Given the description of an element on the screen output the (x, y) to click on. 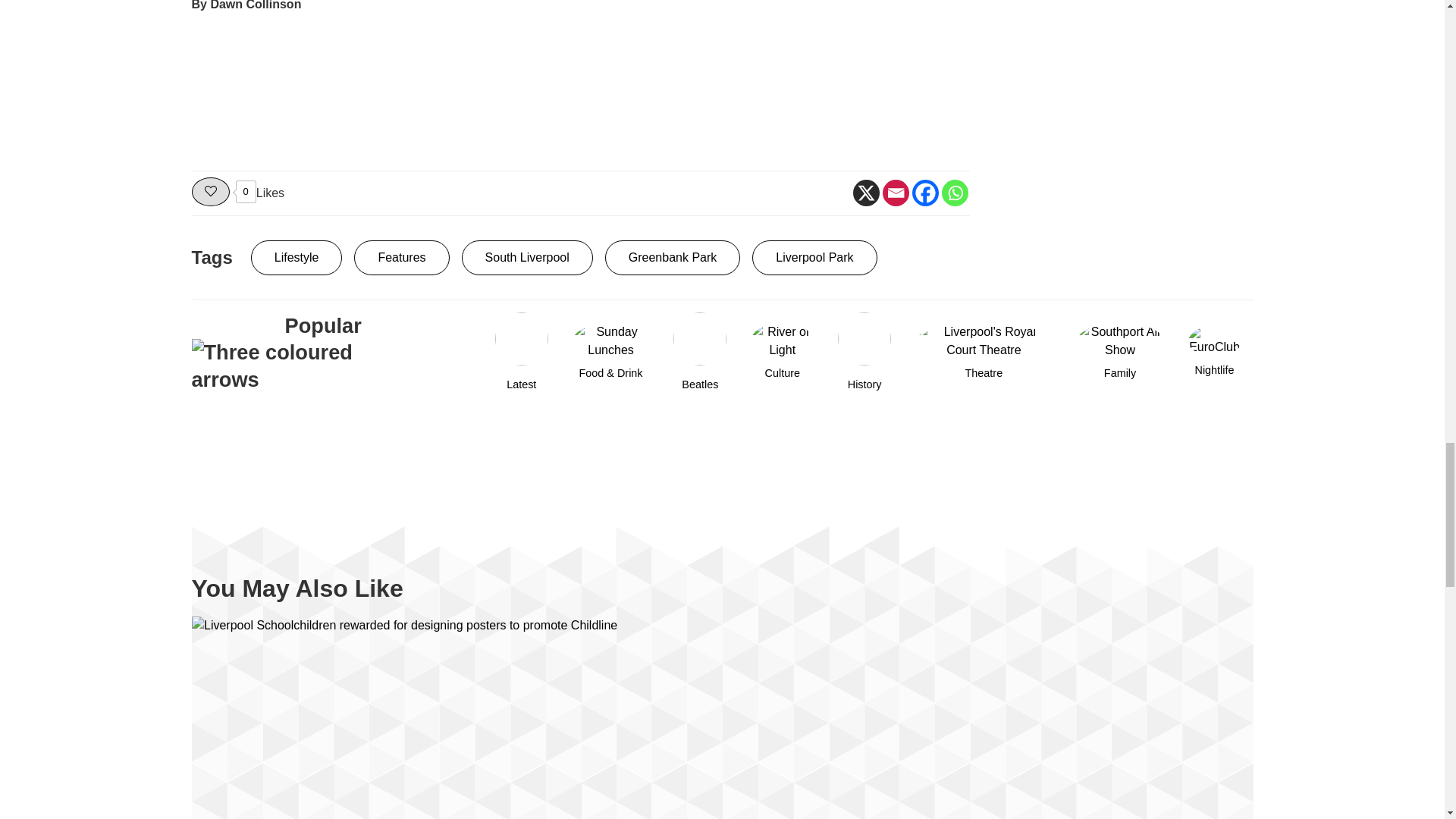
Facebook (924, 192)
Whatsapp (955, 192)
X (865, 192)
Email (895, 192)
